Given the description of an element on the screen output the (x, y) to click on. 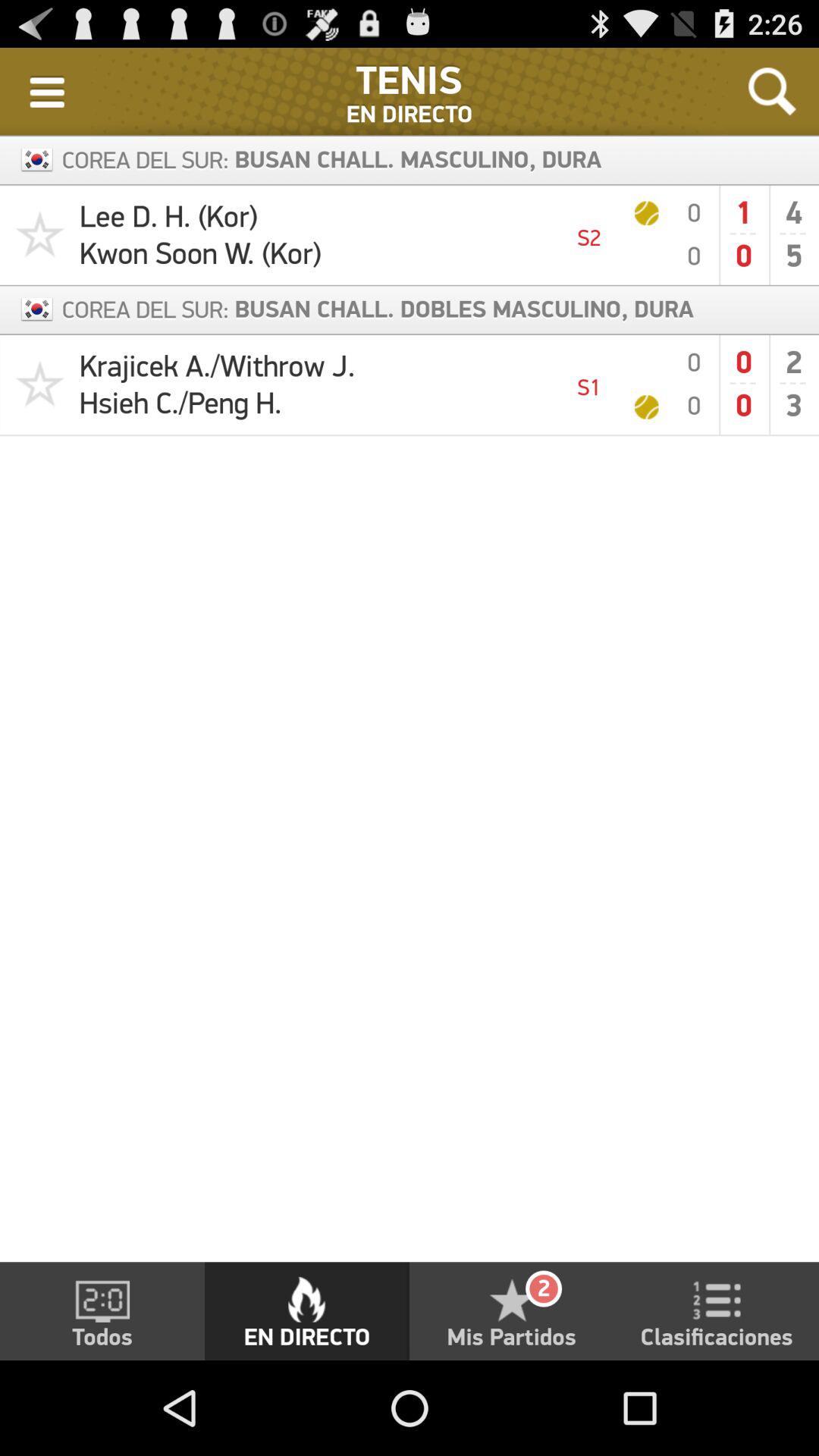
select the icon next to busan chall masculino item (772, 91)
